Given the description of an element on the screen output the (x, y) to click on. 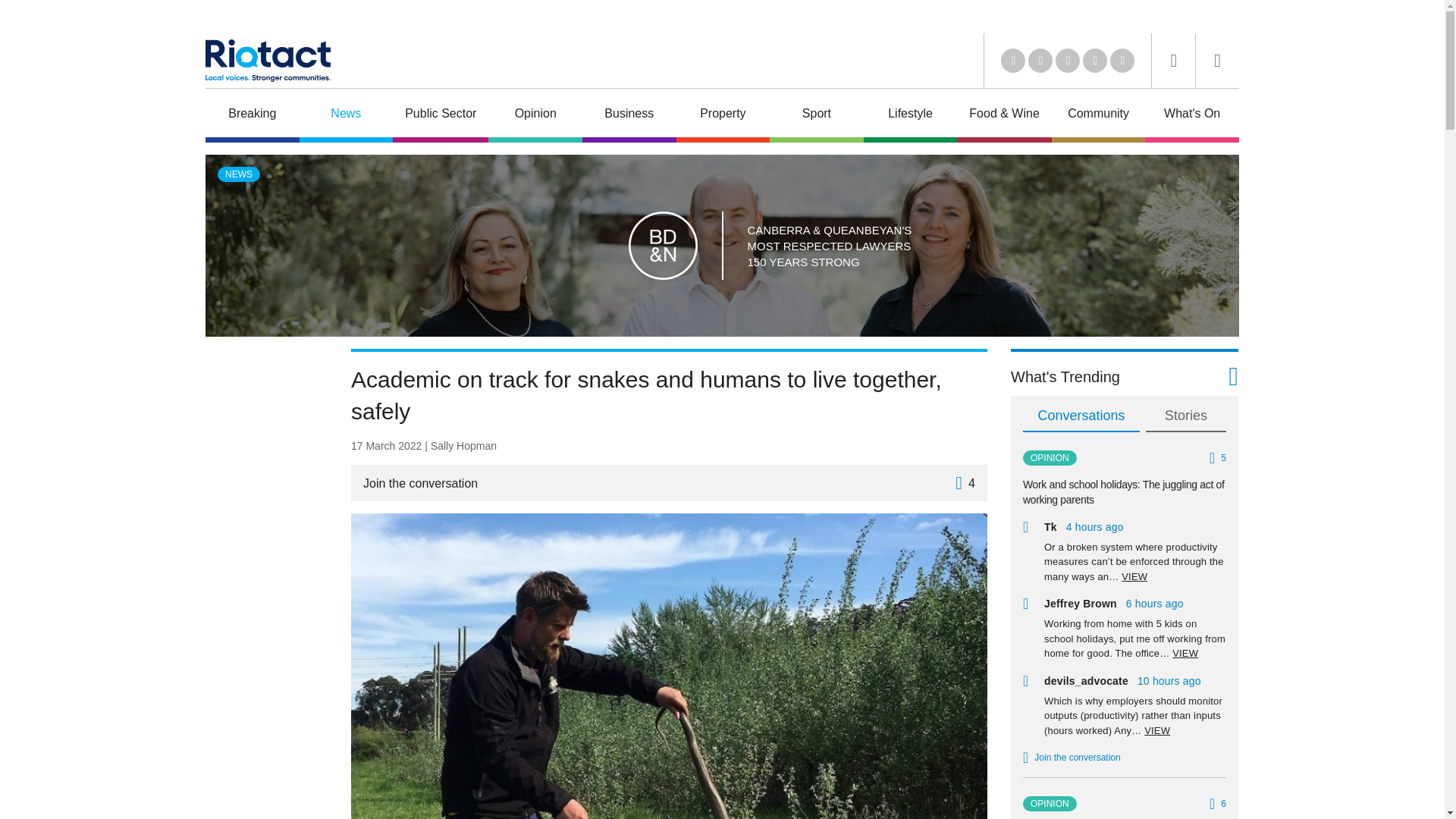
Twitter (1039, 60)
News (346, 115)
Instagram (1121, 60)
Breaking (252, 115)
LinkedIn (1013, 60)
Riotact Home (267, 60)
Youtube (1067, 60)
Facebook (1094, 60)
